Given the description of an element on the screen output the (x, y) to click on. 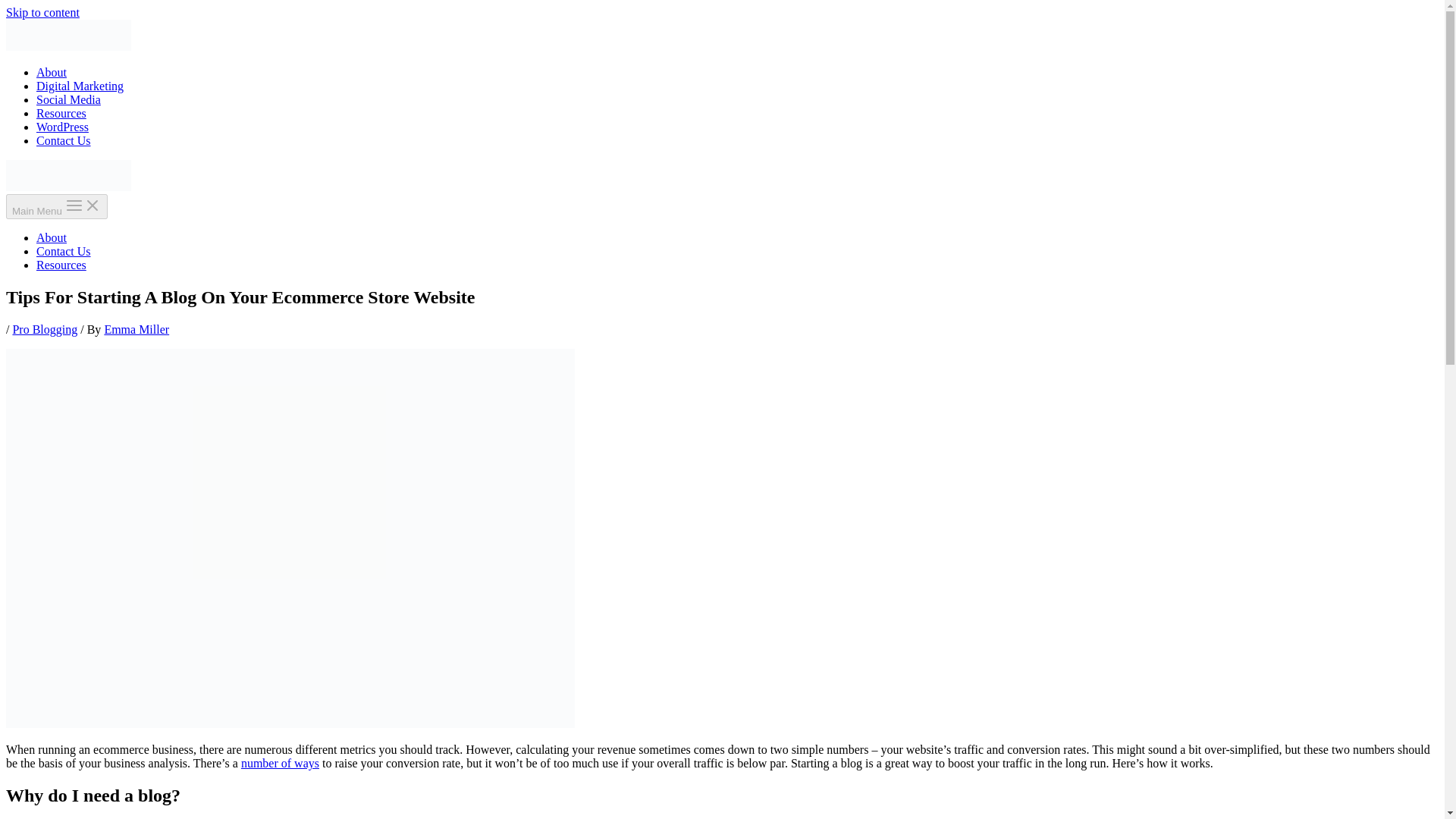
Main Menu (56, 206)
Digital Marketing (79, 85)
Resources (60, 264)
Contact Us (63, 250)
Contact Us (63, 140)
number of ways (279, 762)
Emma Miller (135, 328)
Pro Blogging (44, 328)
Skip to content (42, 11)
WordPress (62, 126)
Social Media (68, 99)
Skip to content (42, 11)
About (51, 72)
Resources (60, 113)
